Given the description of an element on the screen output the (x, y) to click on. 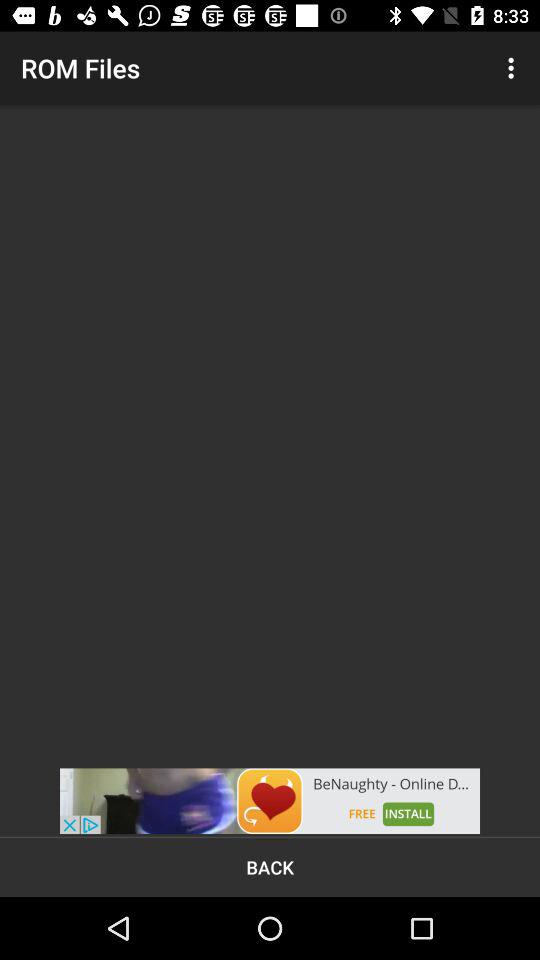
advertisement option (270, 801)
